Given the description of an element on the screen output the (x, y) to click on. 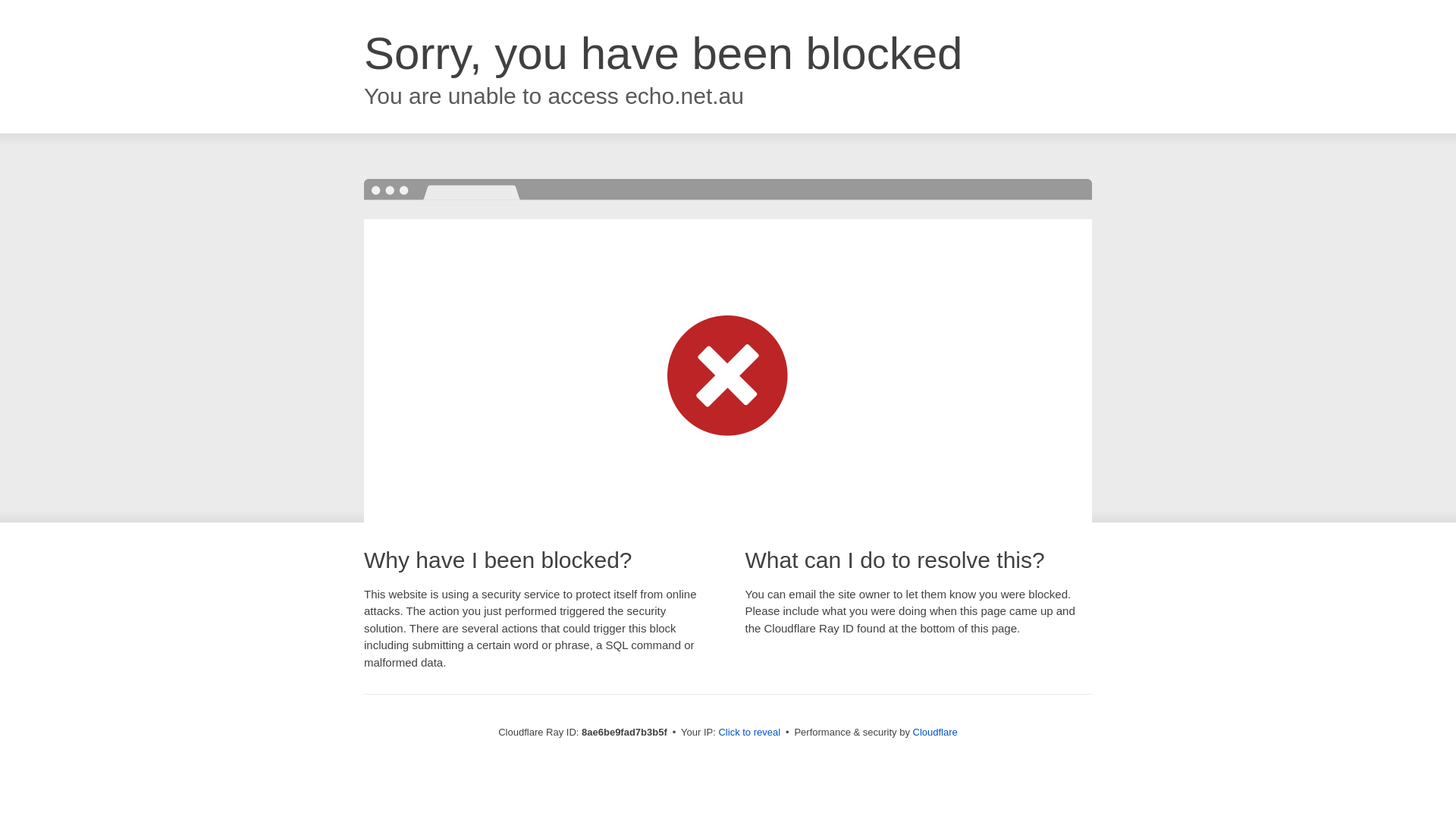
Click to reveal (748, 732)
Cloudflare (935, 731)
